Given the description of an element on the screen output the (x, y) to click on. 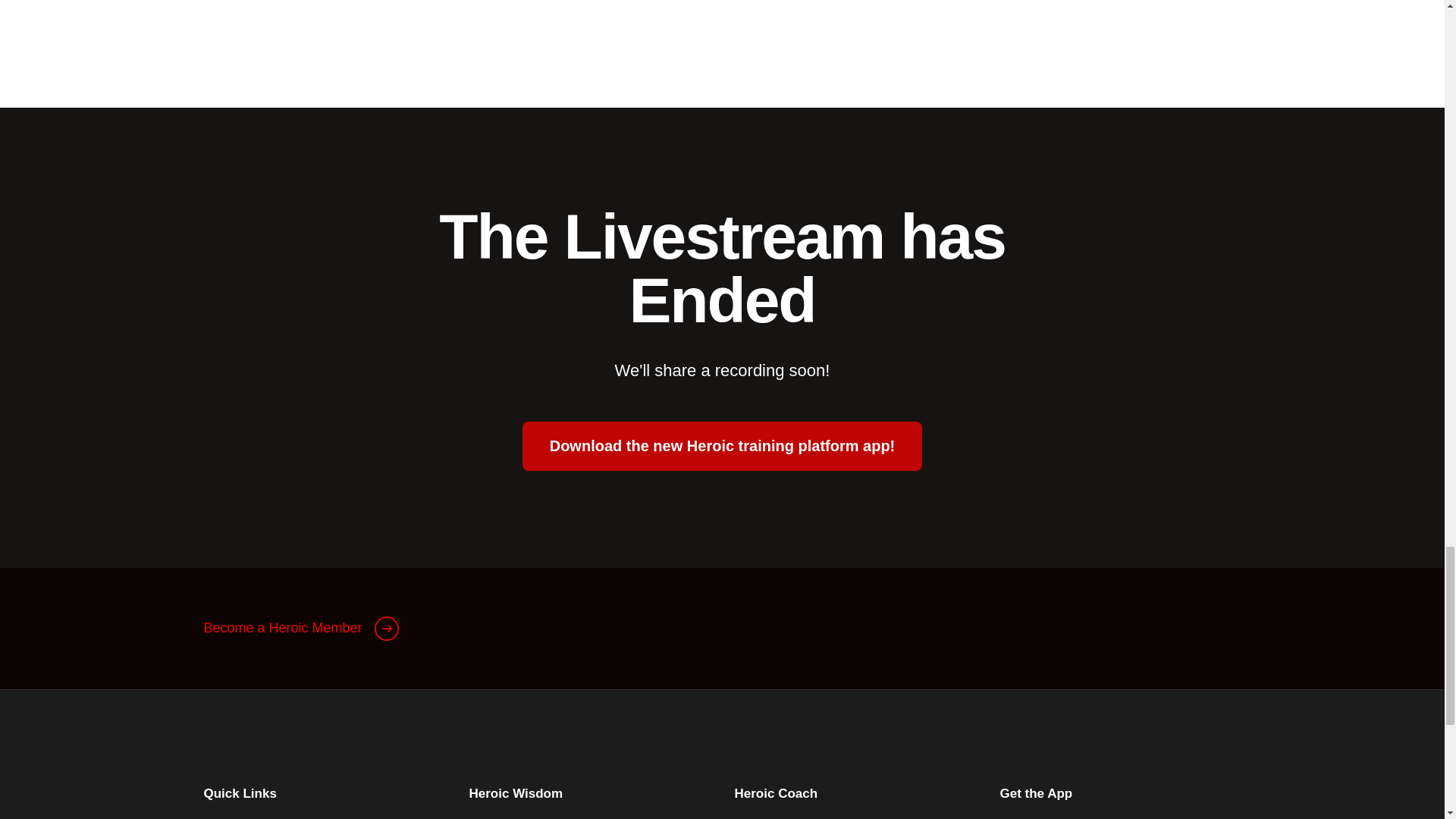
Download the new Heroic training platform app! (722, 445)
Become a Heroic Member (300, 628)
